Given the description of an element on the screen output the (x, y) to click on. 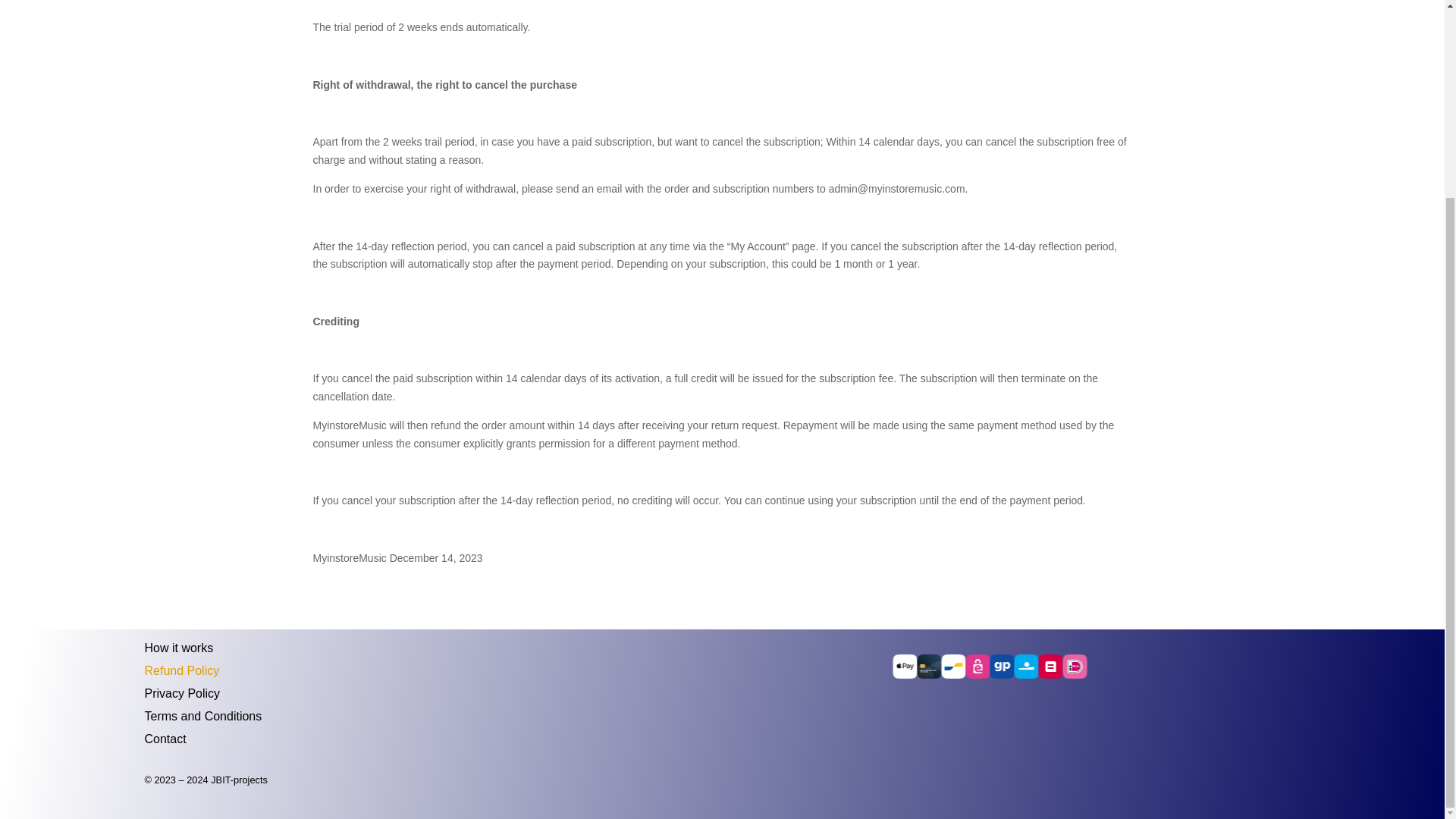
Privacy Policy (181, 690)
Contact (165, 736)
Terms and Conditions (203, 713)
How it works (178, 645)
Refund Policy (181, 668)
